Given the description of an element on the screen output the (x, y) to click on. 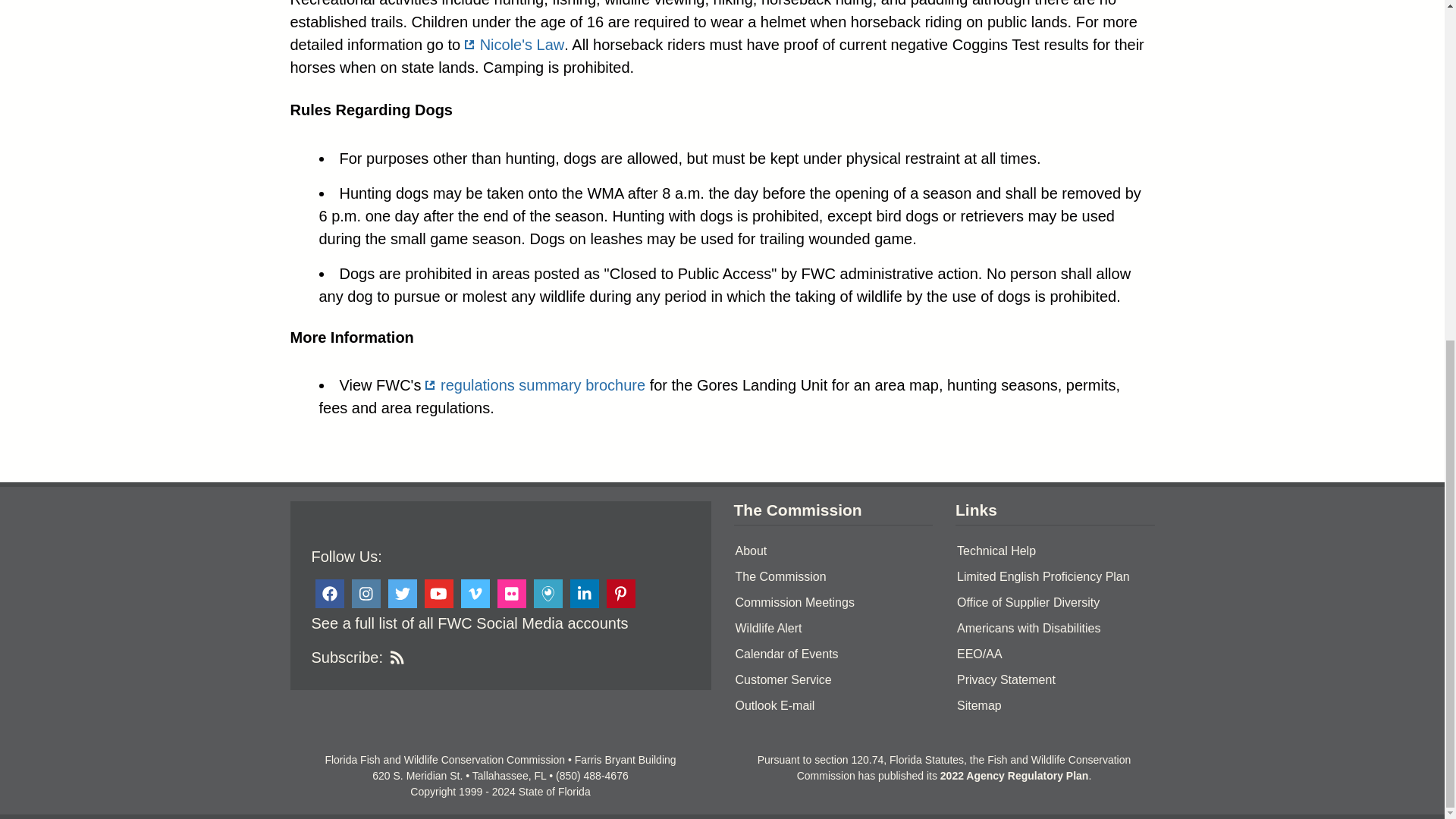
Regulations Summary Brochure (535, 384)
Nicole's Law (514, 44)
2022 Regulatory Plan (1014, 775)
